Given the description of an element on the screen output the (x, y) to click on. 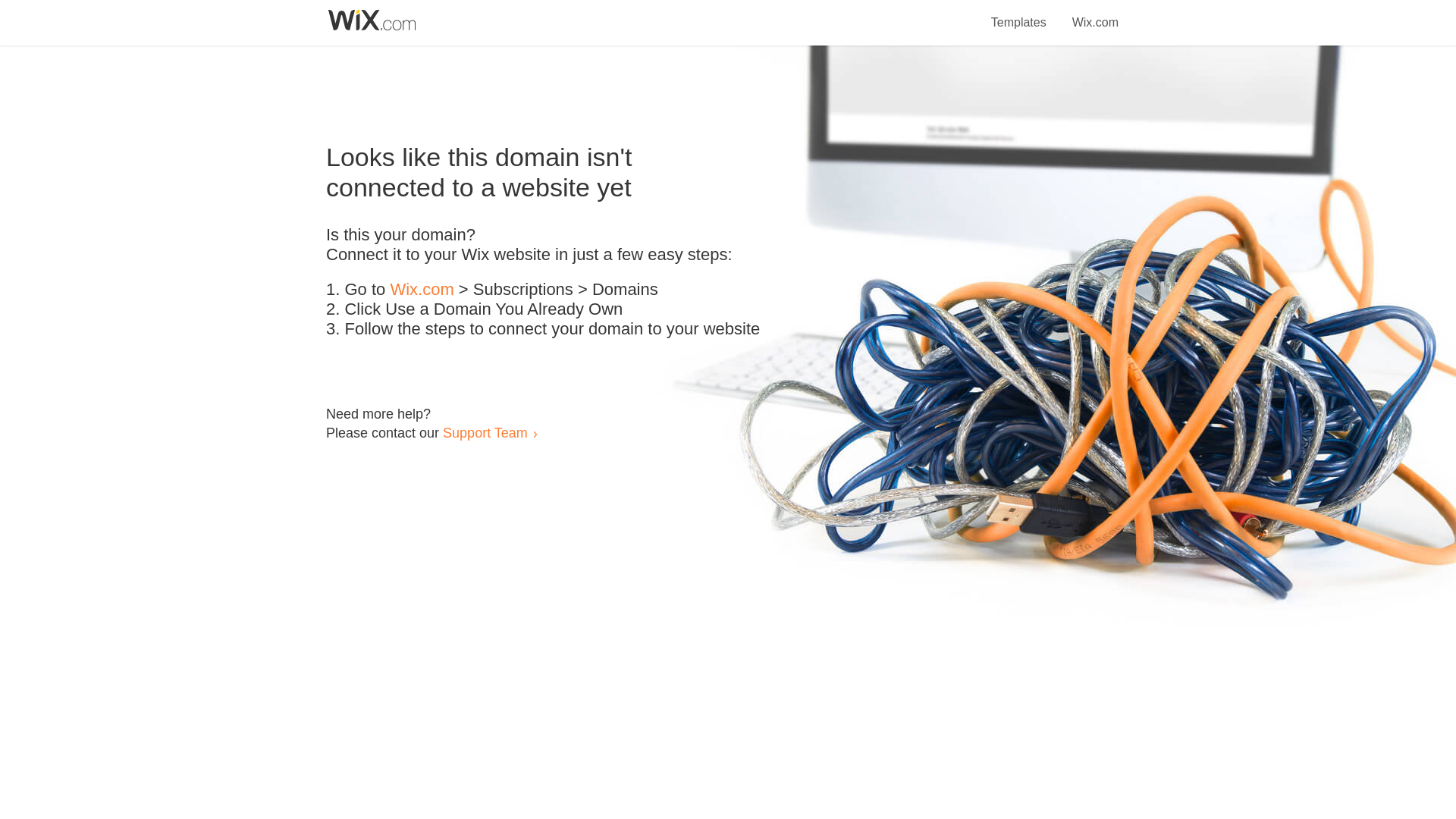
Wix.com (421, 289)
Templates (1018, 14)
Support Team (484, 432)
Wix.com (1095, 14)
